Given the description of an element on the screen output the (x, y) to click on. 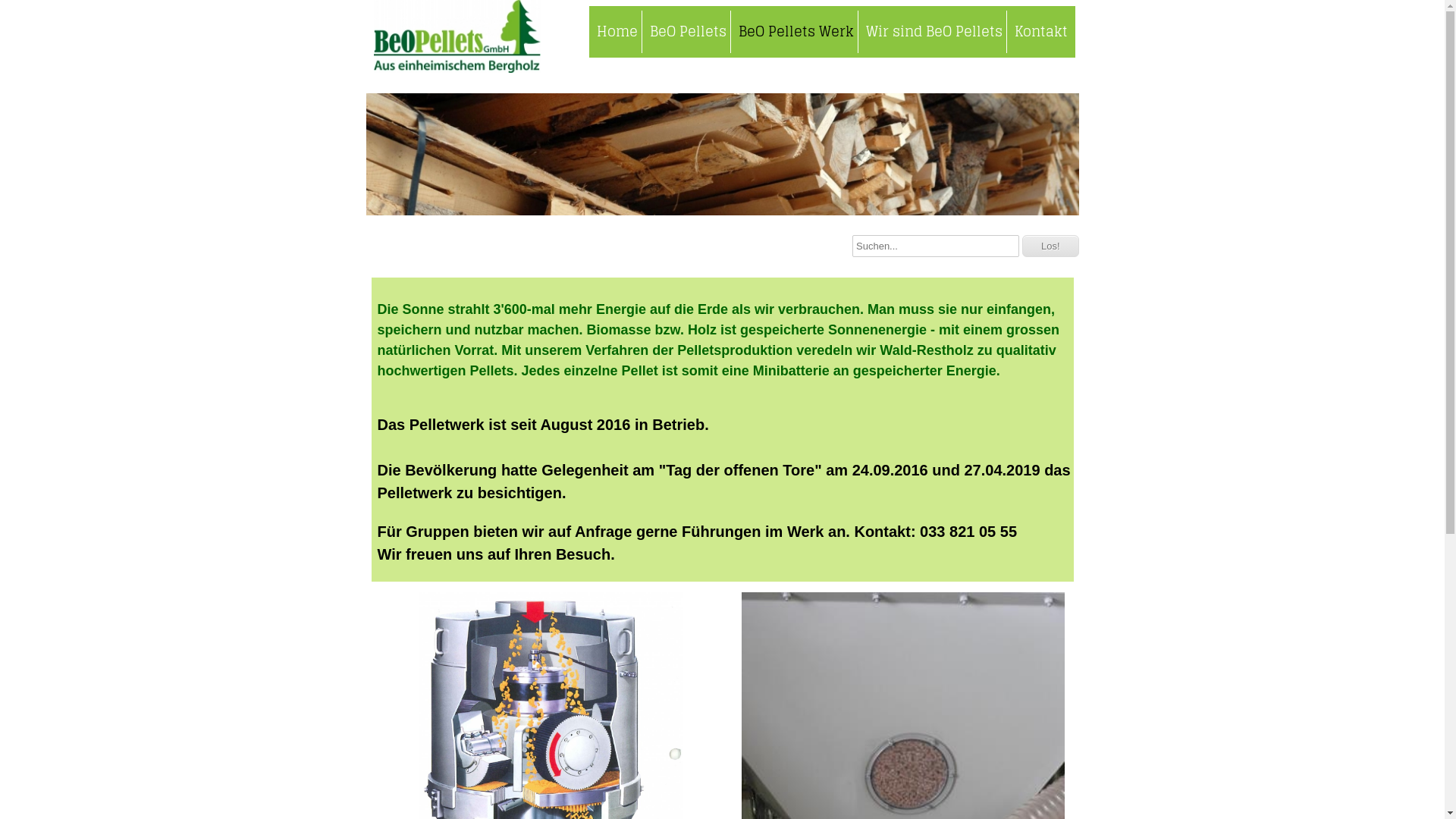
BeO Pellets Element type: text (687, 31)
BeO Pellets Werk Element type: text (794, 31)
Kontakt Element type: text (1039, 31)
Home Element type: text (616, 31)
Wir sind BeO Pellets Element type: text (932, 31)
Los! Element type: text (1050, 246)
